Given the description of an element on the screen output the (x, y) to click on. 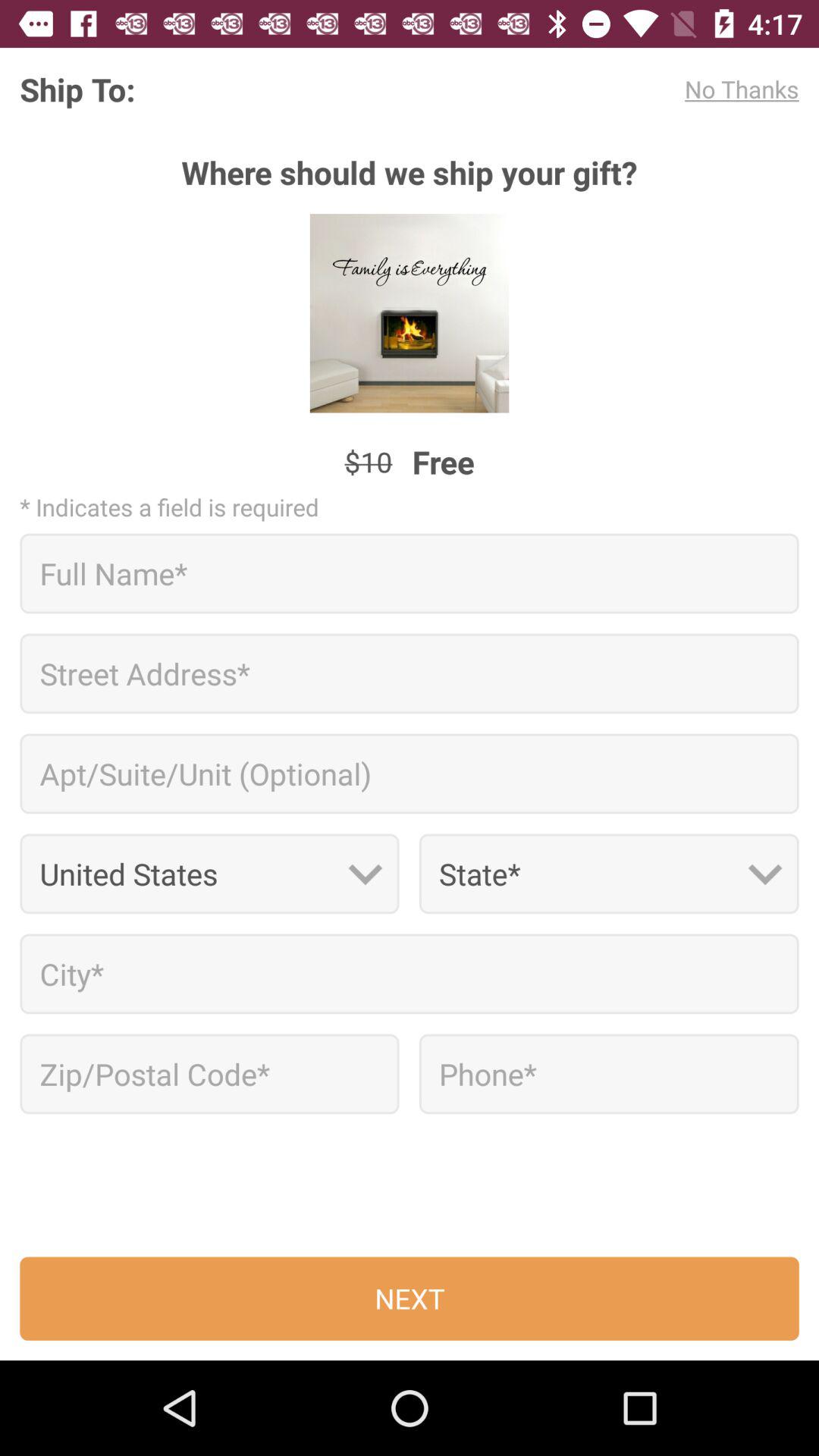
go to city box (409, 973)
